Given the description of an element on the screen output the (x, y) to click on. 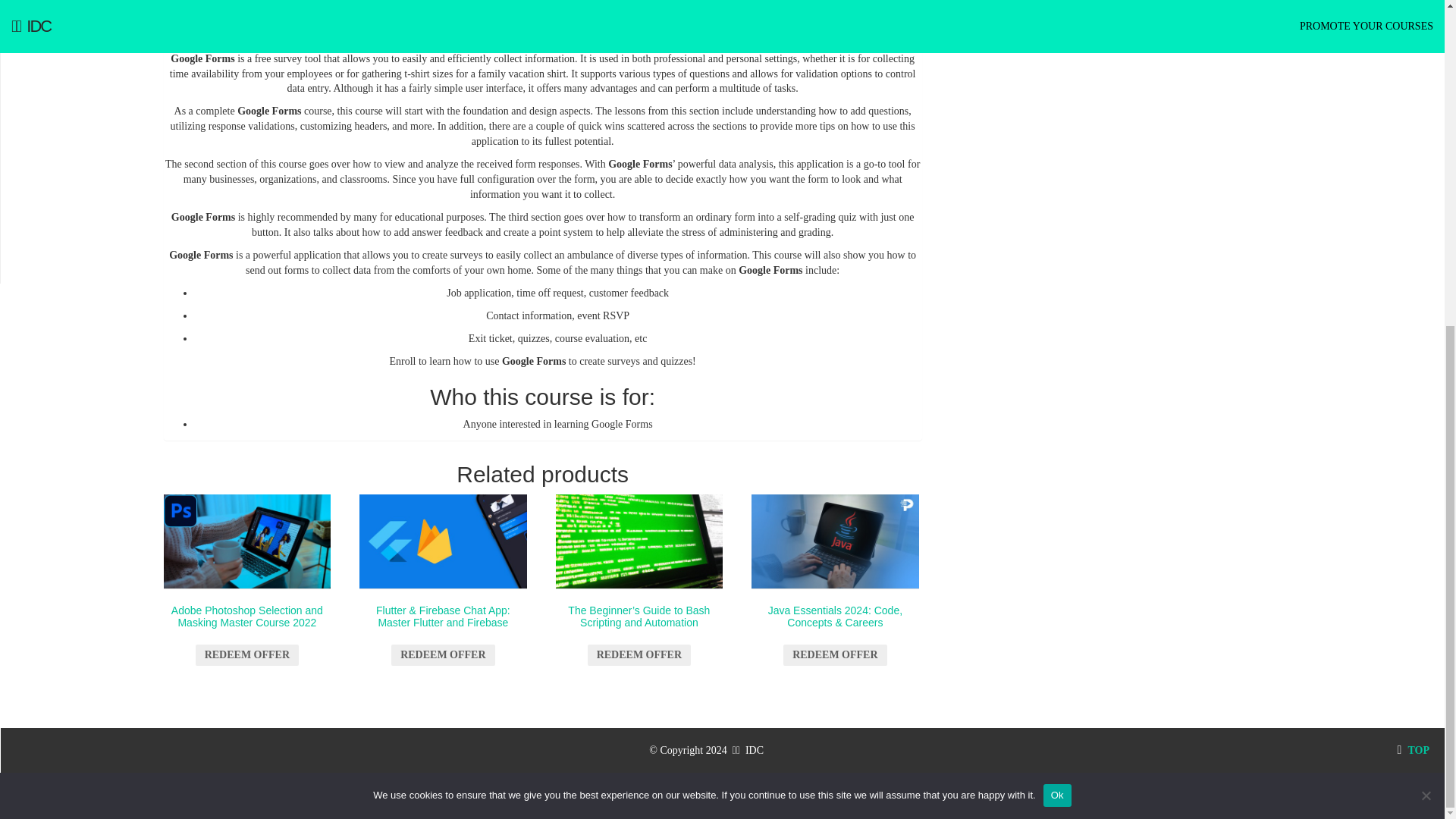
TOP (1412, 749)
No (1425, 259)
REDEEM OFFER (834, 654)
Adobe Photoshop Selection and Masking Master Course 2022 (247, 577)
Ok (1057, 259)
Adobe Photoshop Selection and Masking Master Course 2022 (247, 541)
REDEEM OFFER (443, 654)
REDEEM OFFER (639, 654)
REDEEM OFFER (246, 654)
Privacy Policy (722, 795)
